Given the description of an element on the screen output the (x, y) to click on. 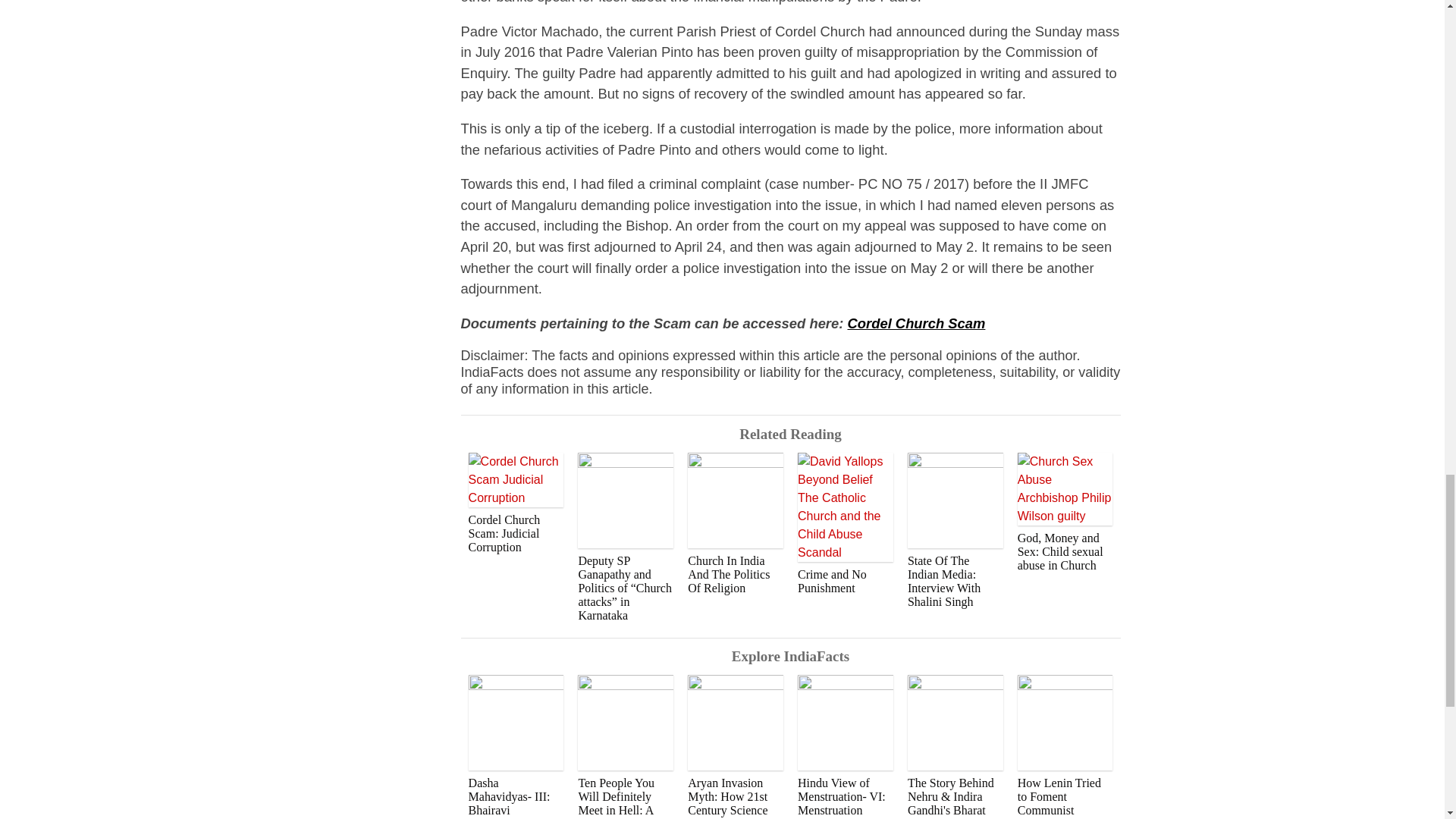
Cordel Church Scam: Judicial Corruption (516, 503)
God, Money and Sex:  Child sexual abuse in Church (1065, 512)
Crime and No Punishment (845, 523)
State Of The Indian Media: Interview With Shalini Singh (955, 530)
Ten People You Will Definitely Meet in Hell: A 2016 List (625, 746)
Dasha Mahavidyas- III: Bhairavi (516, 745)
How Lenin Tried to Foment Communist Revolution in India (1065, 746)
Church In India And The Politics Of Religion (735, 523)
